Given the description of an element on the screen output the (x, y) to click on. 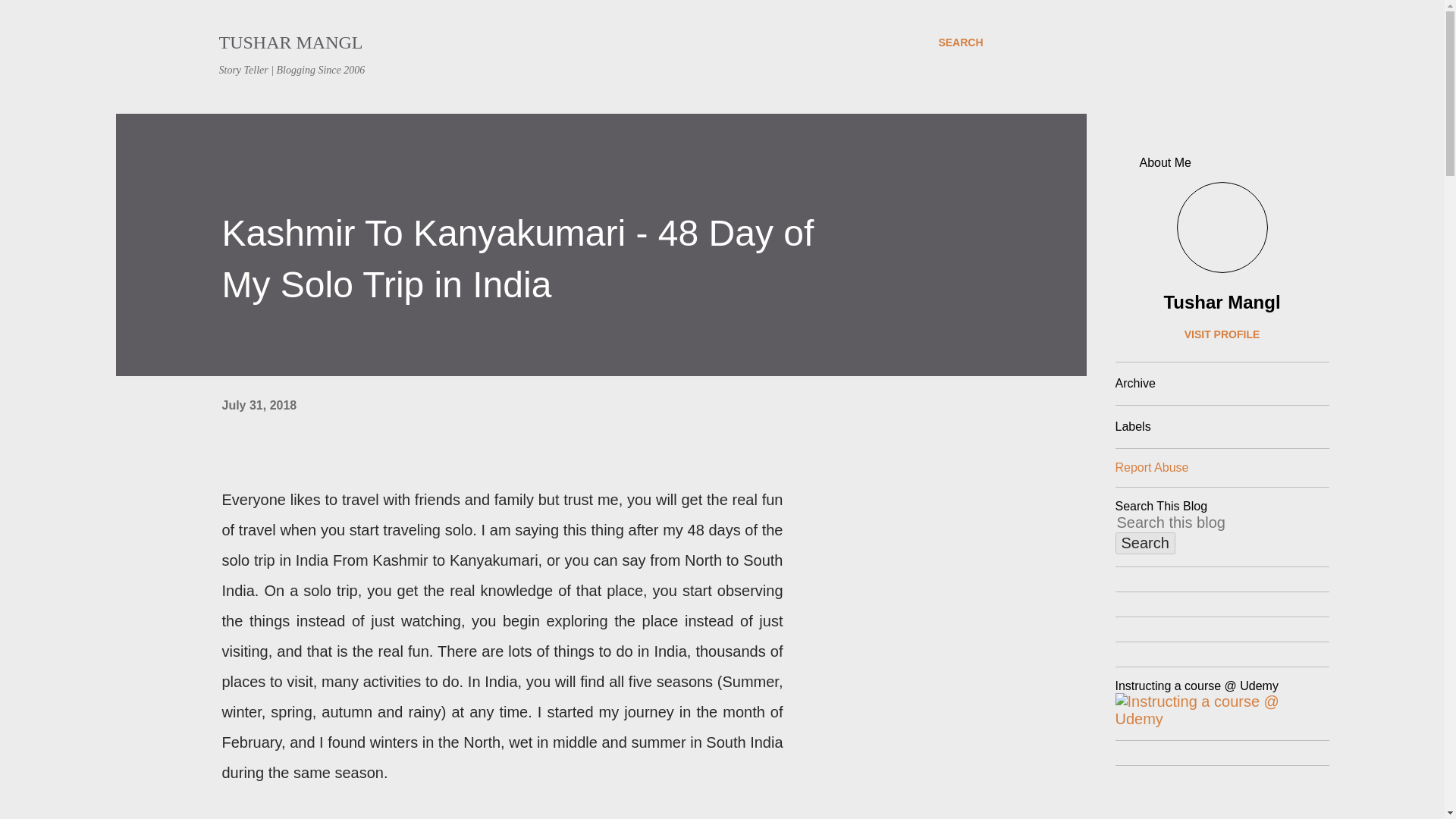
Search (1144, 543)
July 31, 2018 (259, 404)
SEARCH (959, 42)
permanent link (259, 404)
Search (1144, 543)
TUSHAR MANGL (290, 42)
